Given the description of an element on the screen output the (x, y) to click on. 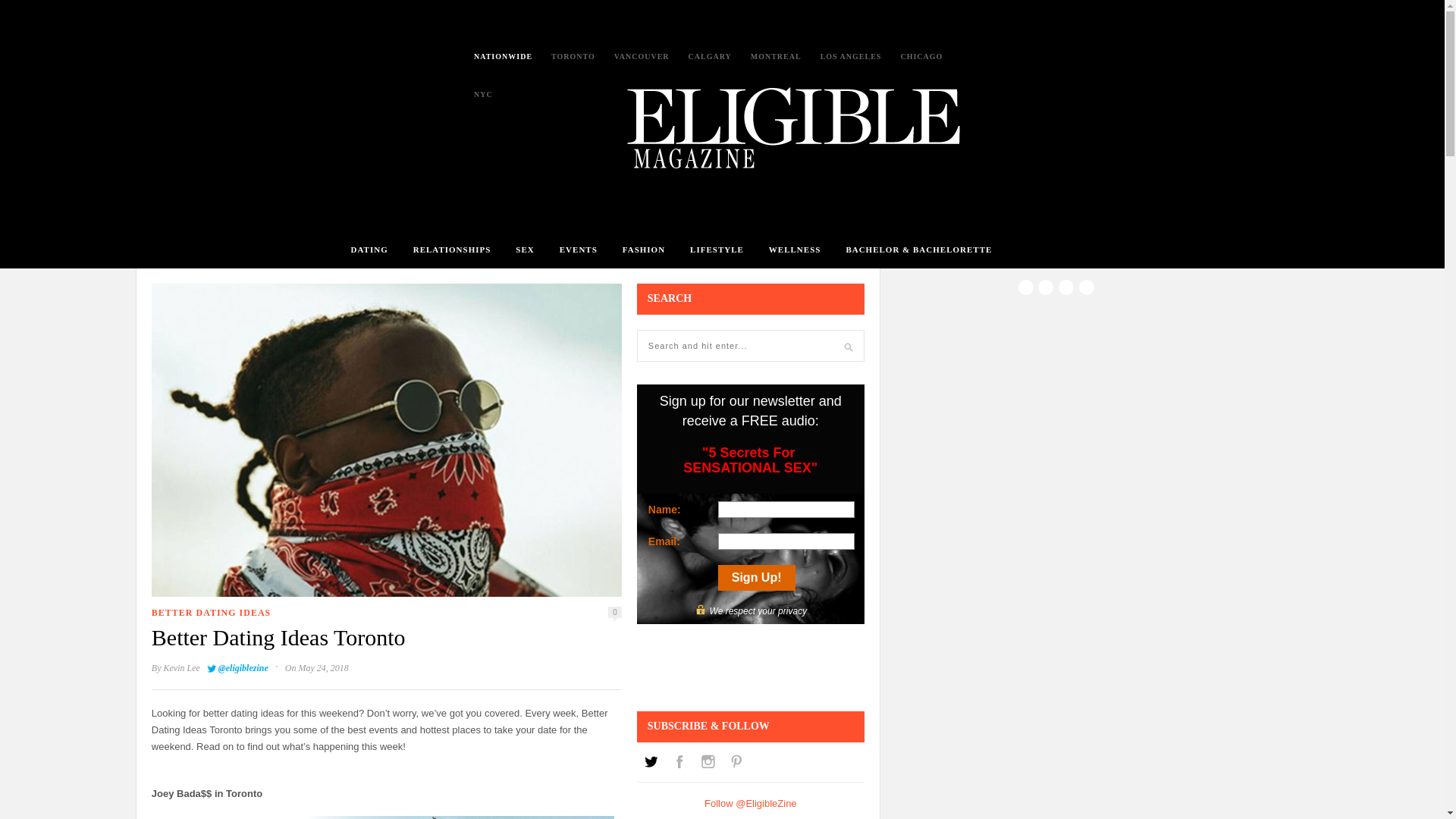
NYC (483, 94)
NATIONWIDE (503, 56)
LOS ANGELES (851, 56)
LIFESTYLE (717, 248)
CHICAGO (920, 56)
Sign Up! (755, 577)
TORONTO (573, 56)
EVENTS (577, 248)
Posts by Kevin Lee (181, 667)
CALGARY (710, 56)
RELATIONSHIPS (452, 248)
SEX (524, 248)
Follow Kevin Lee on Twitter (236, 667)
FASHION (644, 248)
WELLNESS (794, 248)
